Given the description of an element on the screen output the (x, y) to click on. 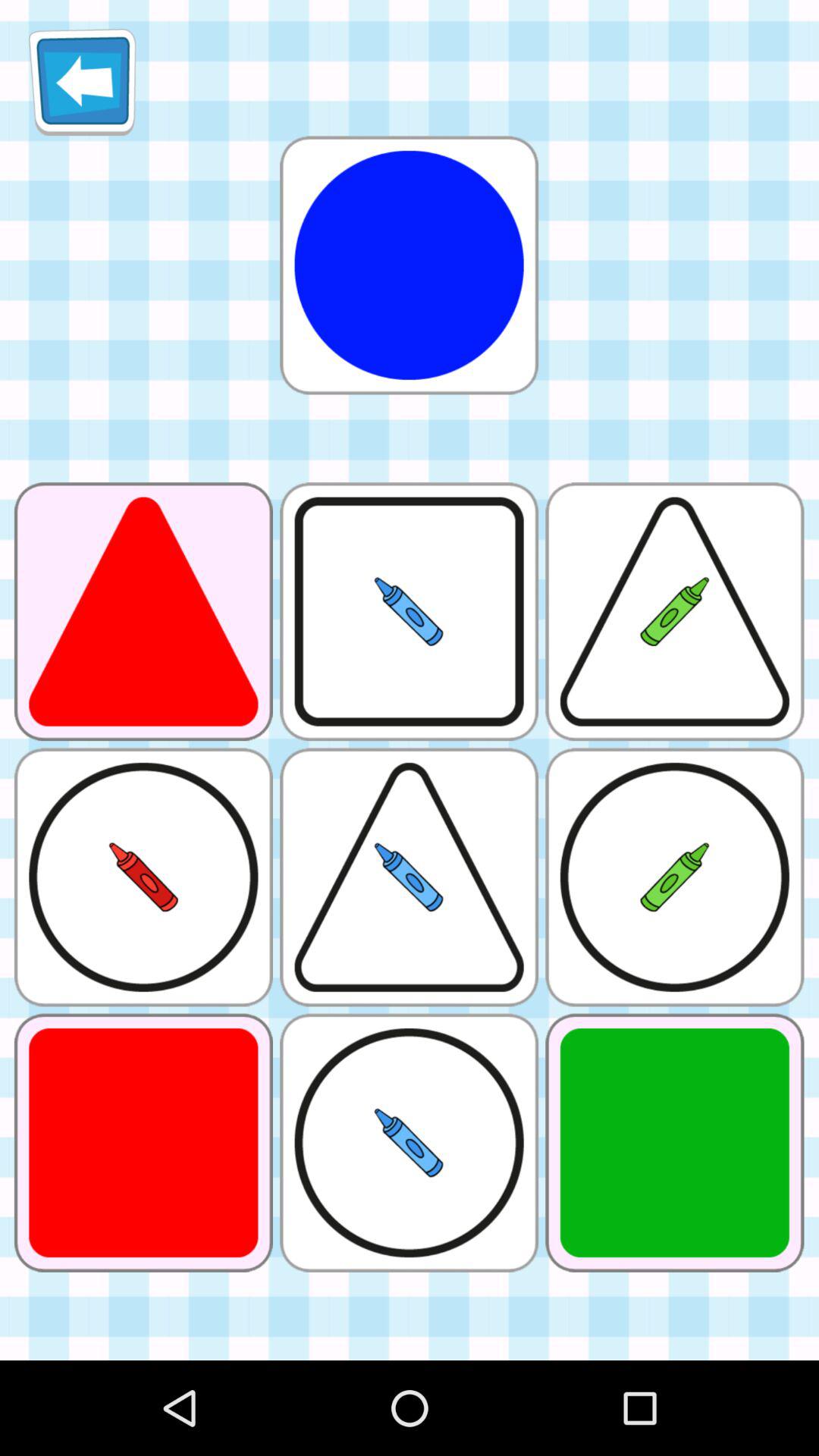
insert blue circle (409, 265)
